Given the description of an element on the screen output the (x, y) to click on. 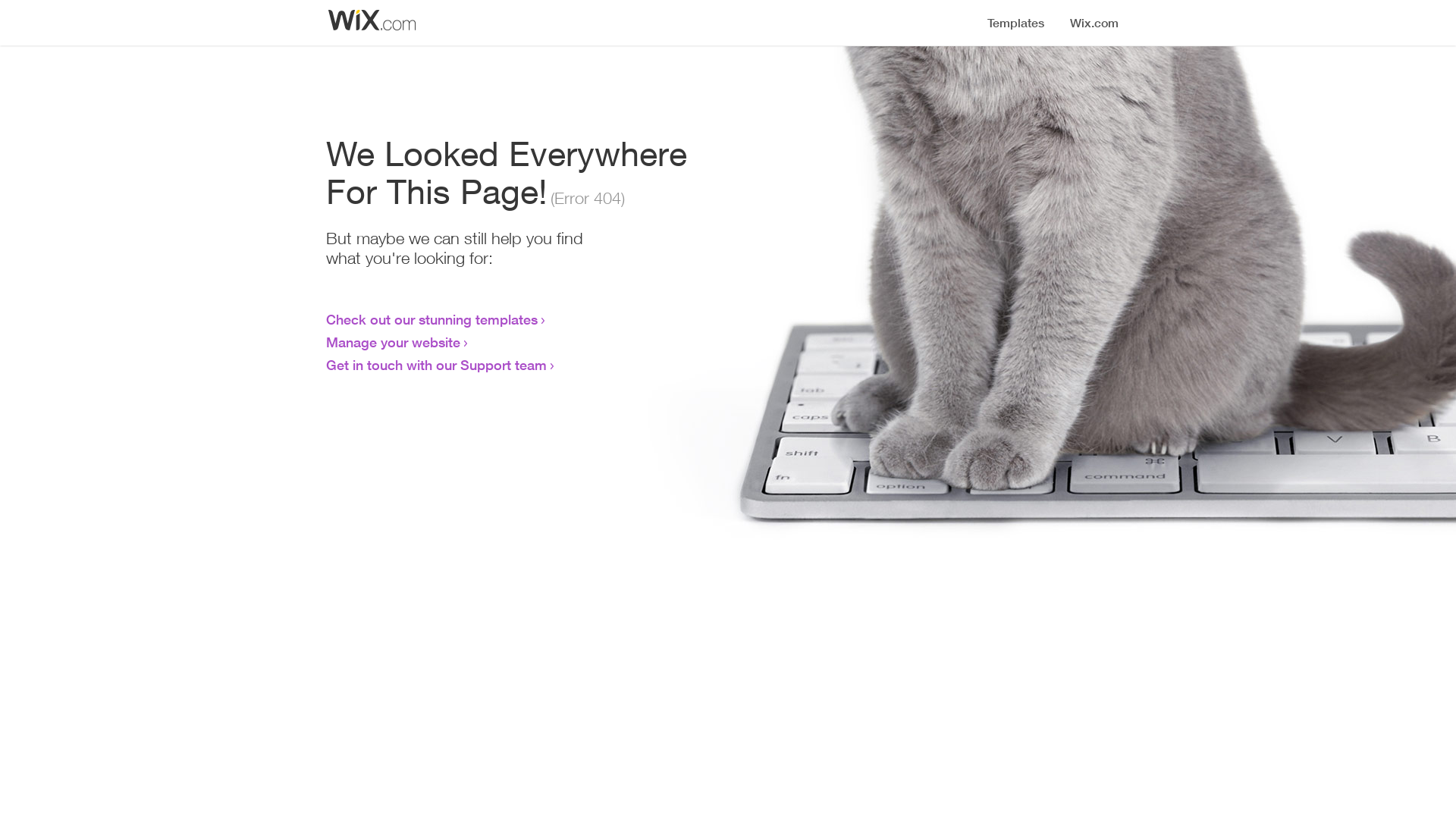
Check out our stunning templates Element type: text (431, 318)
Manage your website Element type: text (393, 341)
Get in touch with our Support team Element type: text (436, 364)
